Given the description of an element on the screen output the (x, y) to click on. 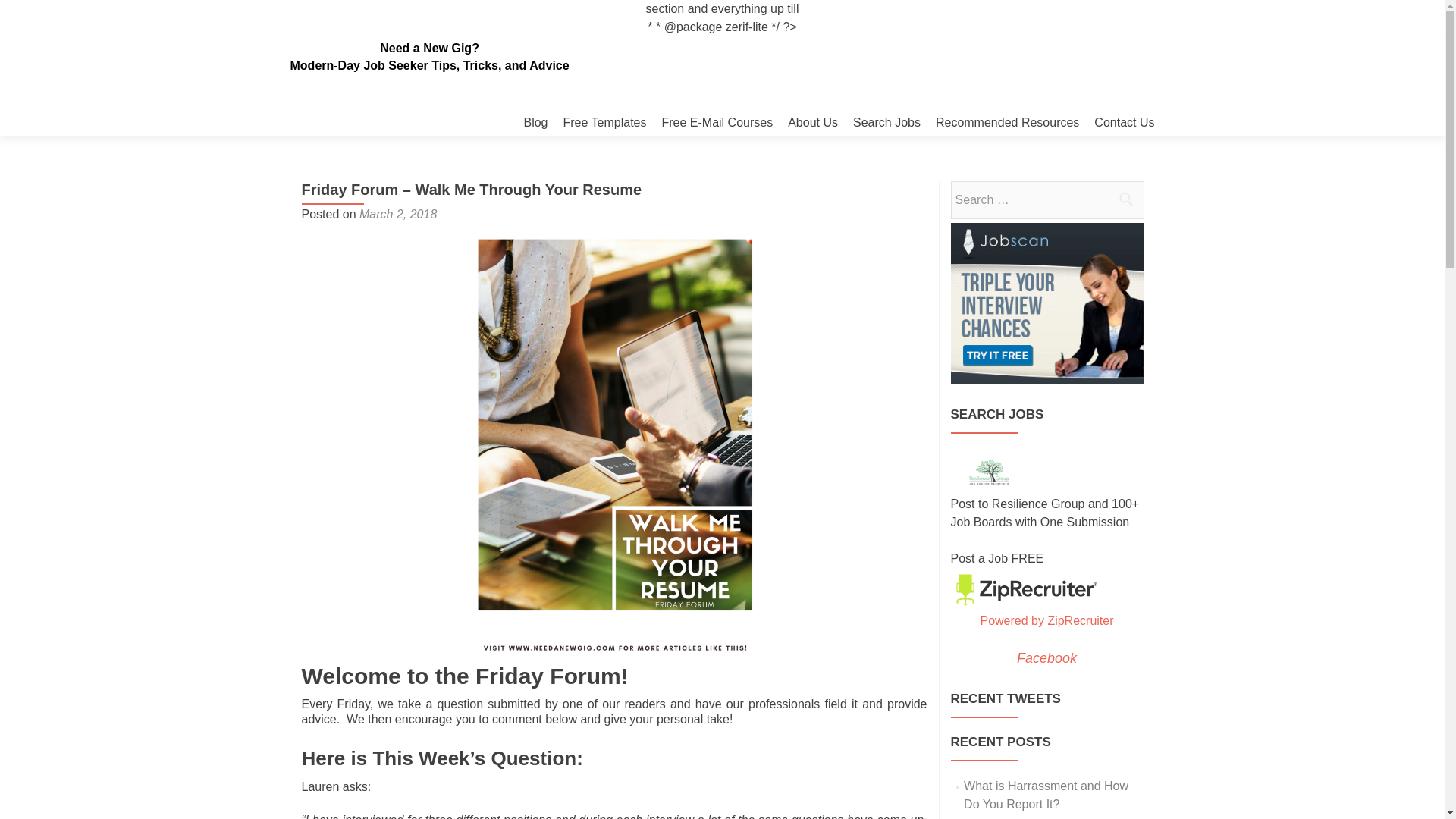
Facebook (1046, 657)
Search (1125, 198)
About Us (812, 121)
Free Templates (604, 121)
What is Harrassment and How Do You Report It? (1045, 794)
Need a New Gig? (429, 47)
Search (1125, 198)
Contact Us (1124, 121)
Search Jobs (886, 121)
Free E-Mail Courses (717, 121)
